Given the description of an element on the screen output the (x, y) to click on. 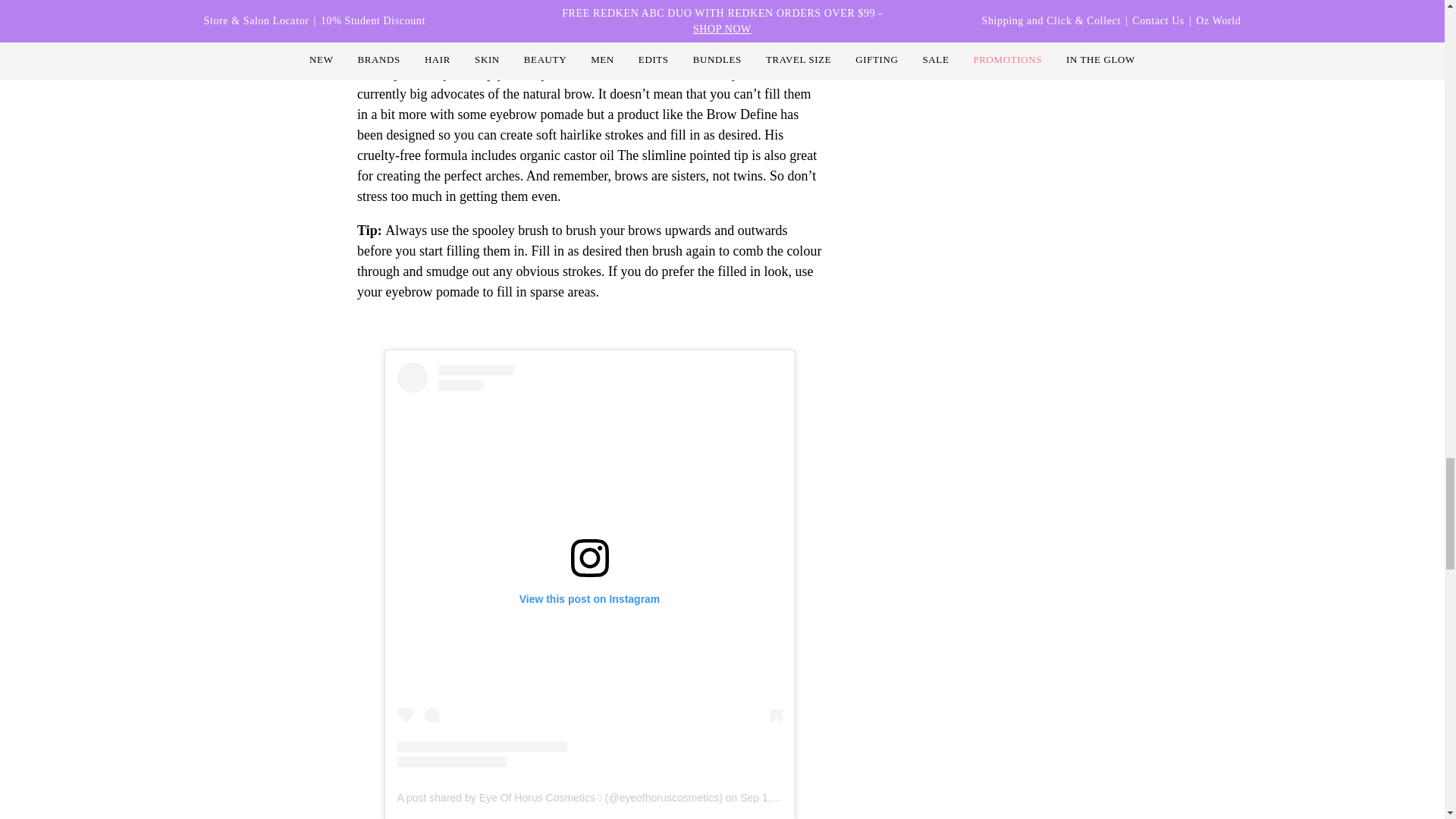
Brow Define (417, 19)
